Given the description of an element on the screen output the (x, y) to click on. 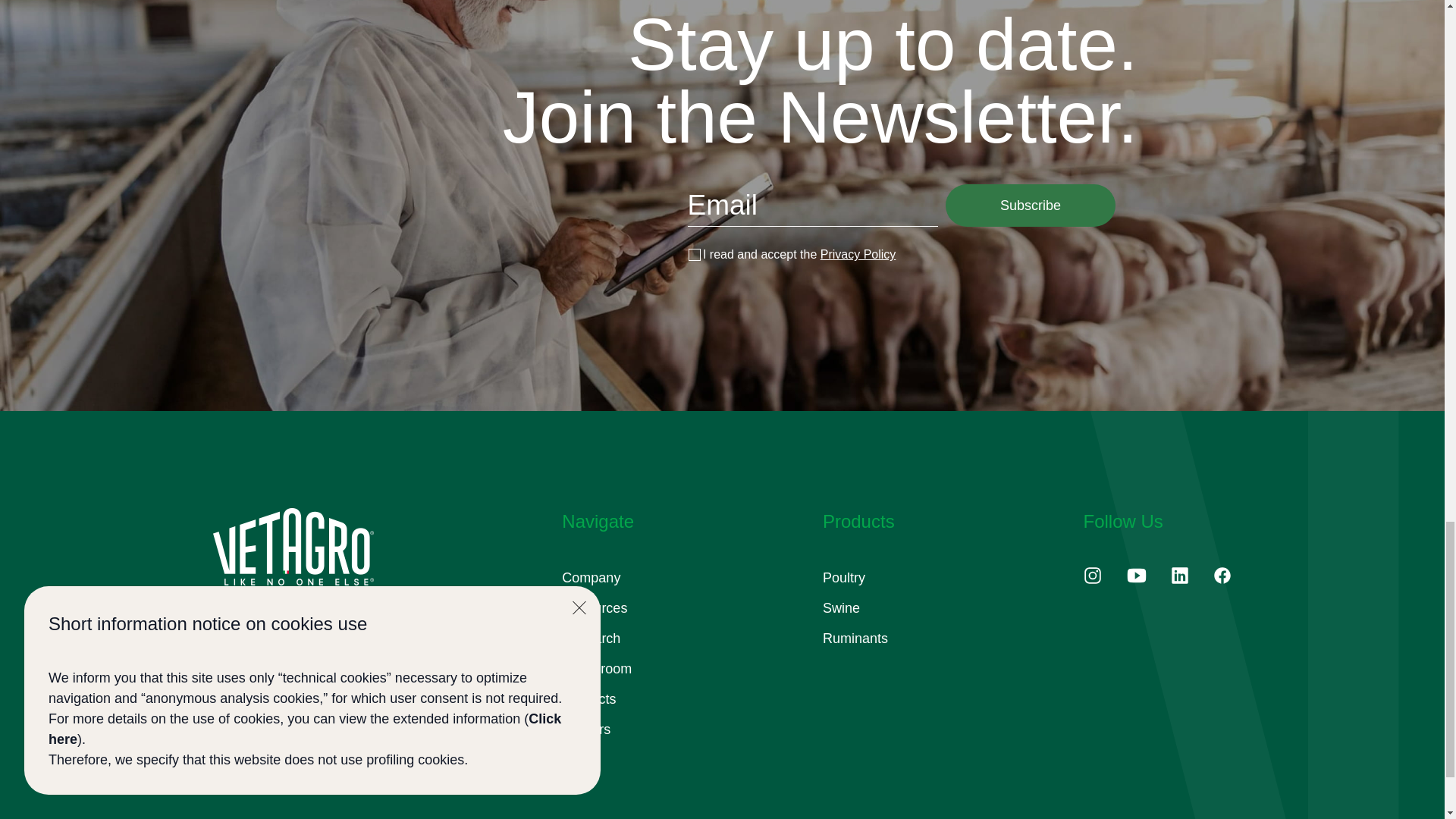
Subscribe (1029, 205)
Contacts (588, 698)
Subscribe (1029, 205)
Research (591, 638)
Careers (586, 729)
Privacy Policy (858, 254)
on (692, 254)
Privacy Policy (858, 254)
Ruminants (855, 638)
Press room (596, 668)
Company (591, 577)
Swine (841, 607)
Poultry (843, 577)
Resources (594, 607)
